Given the description of an element on the screen output the (x, y) to click on. 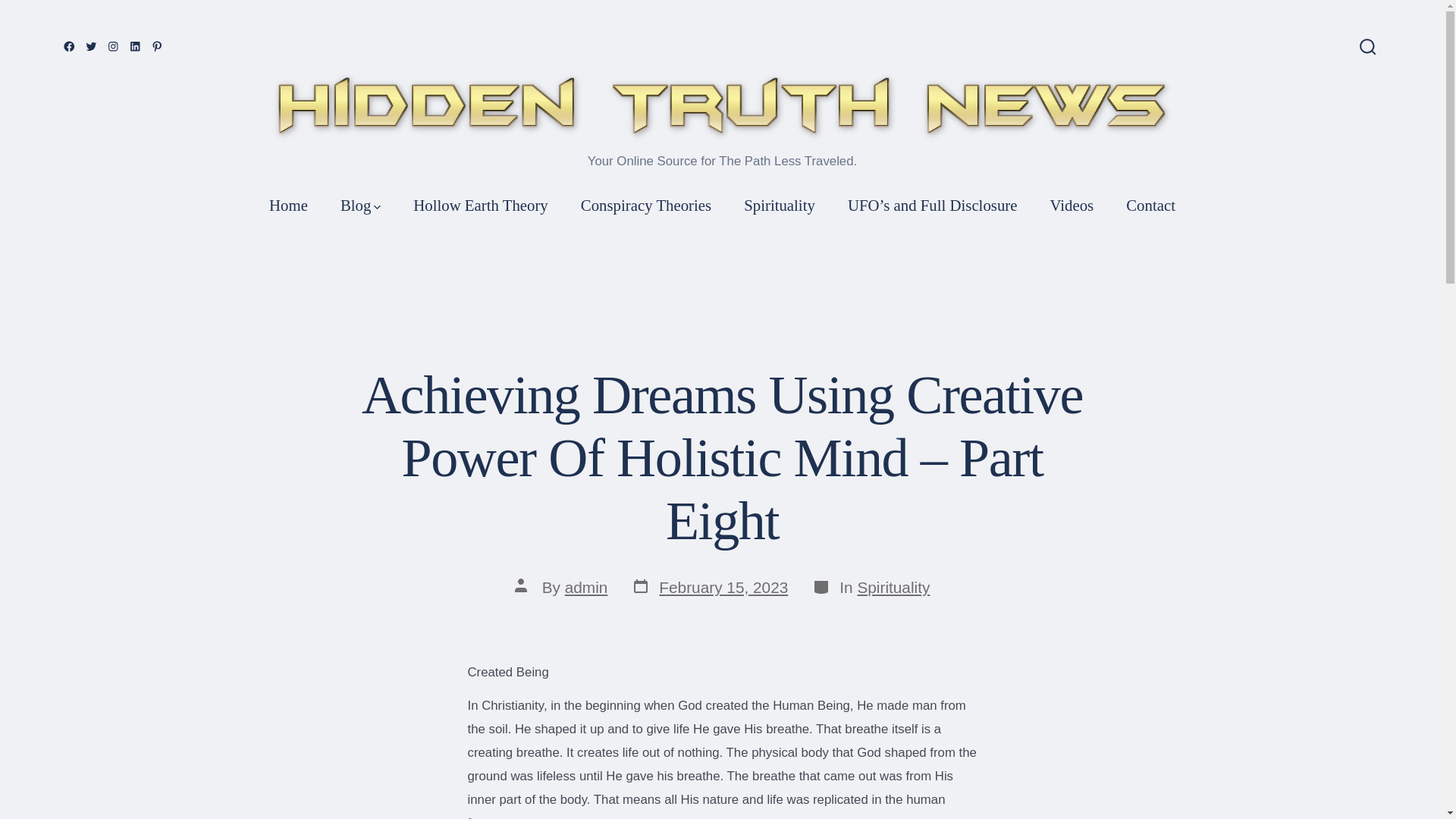
Videos (1071, 205)
Blog (360, 205)
admin (586, 587)
Open Instagram in a new tab (112, 46)
Contact (1149, 205)
Spirituality (779, 205)
Conspiracy Theories (645, 205)
Hollow Earth Theory (480, 205)
Open Facebook in a new tab (68, 46)
Open LinkedIn in a new tab (134, 46)
